Given the description of an element on the screen output the (x, y) to click on. 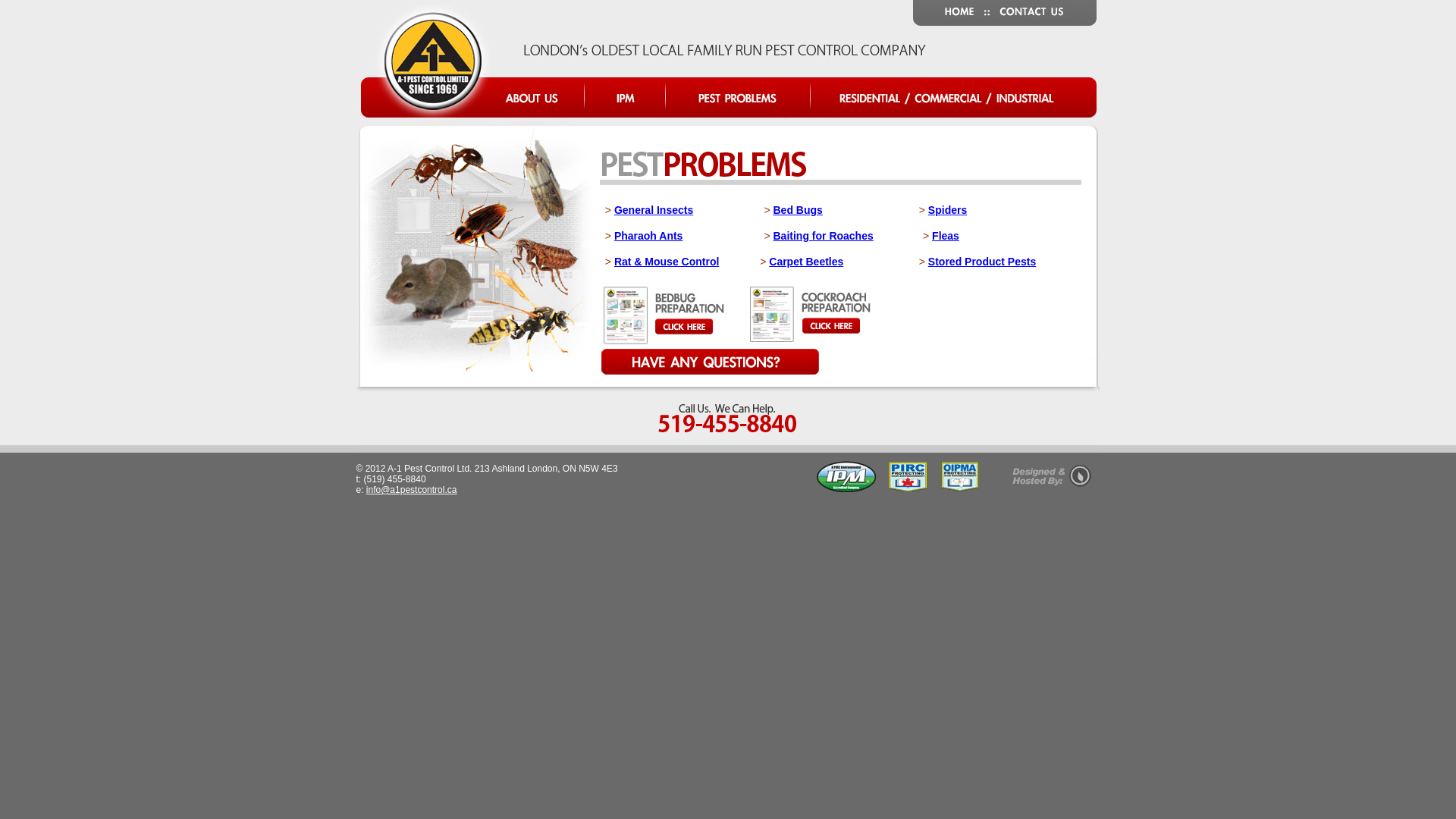
Fleas Element type: text (945, 235)
Rat & Mouse Control Element type: text (666, 261)
Stored Product Pests Element type: text (981, 261)
info@a1pestcontrol.ca Element type: text (411, 489)
Bed Bugs Element type: text (797, 209)
Baiting for Roaches Element type: text (823, 235)
General Insects Element type: text (653, 209)
Carpet Beetles Element type: text (805, 261)
Spiders Element type: text (947, 209)
Pharaoh Ants Element type: text (648, 235)
